Given the description of an element on the screen output the (x, y) to click on. 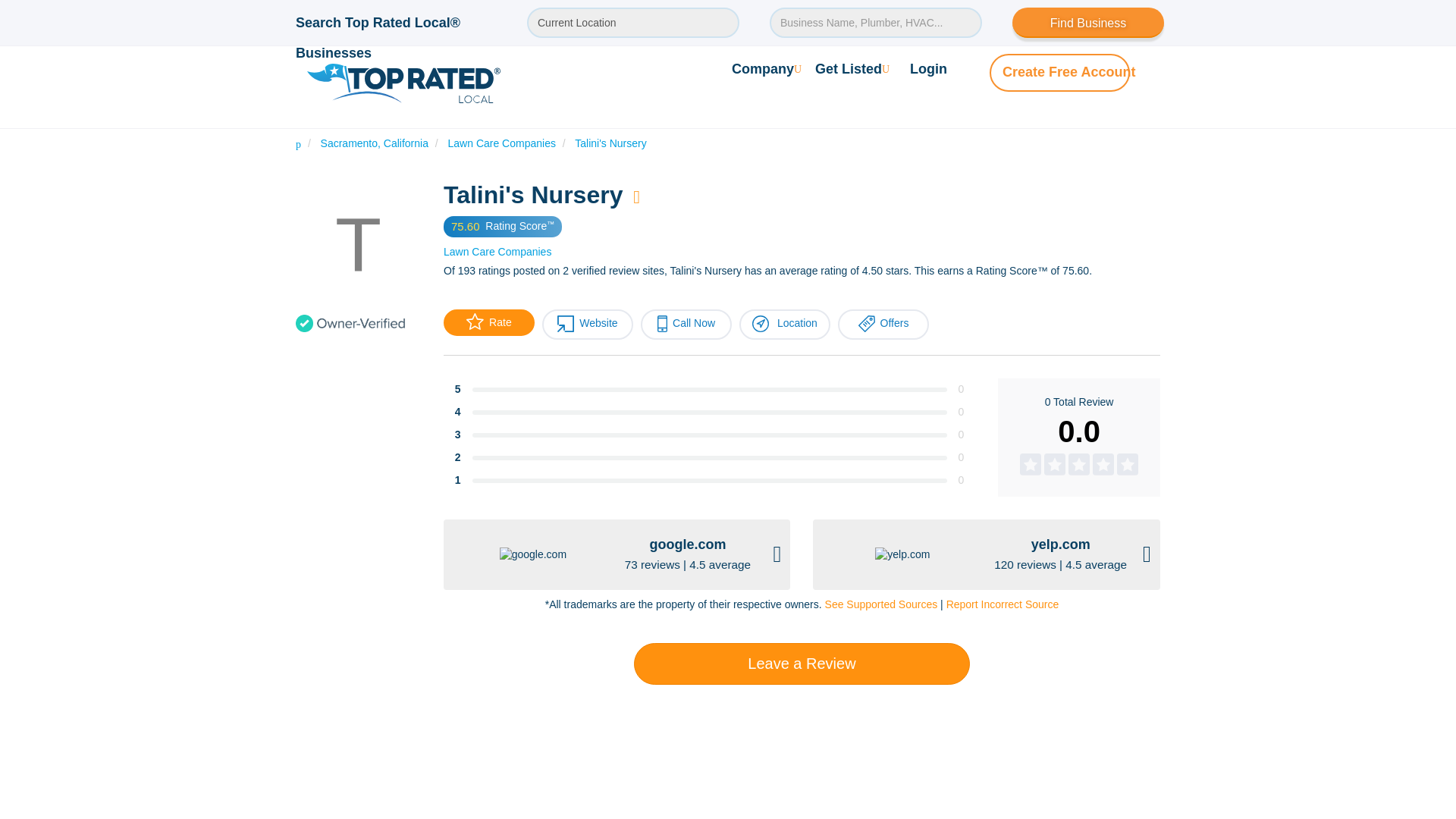
Create Free Account (1069, 70)
Website (587, 324)
Sacramento, California (374, 143)
Get Listed (852, 68)
Company (767, 68)
Current Location (633, 22)
Talini's Nursery (610, 143)
Current Location (633, 22)
Lawn Care Companies (502, 143)
Login (928, 68)
